Given the description of an element on the screen output the (x, y) to click on. 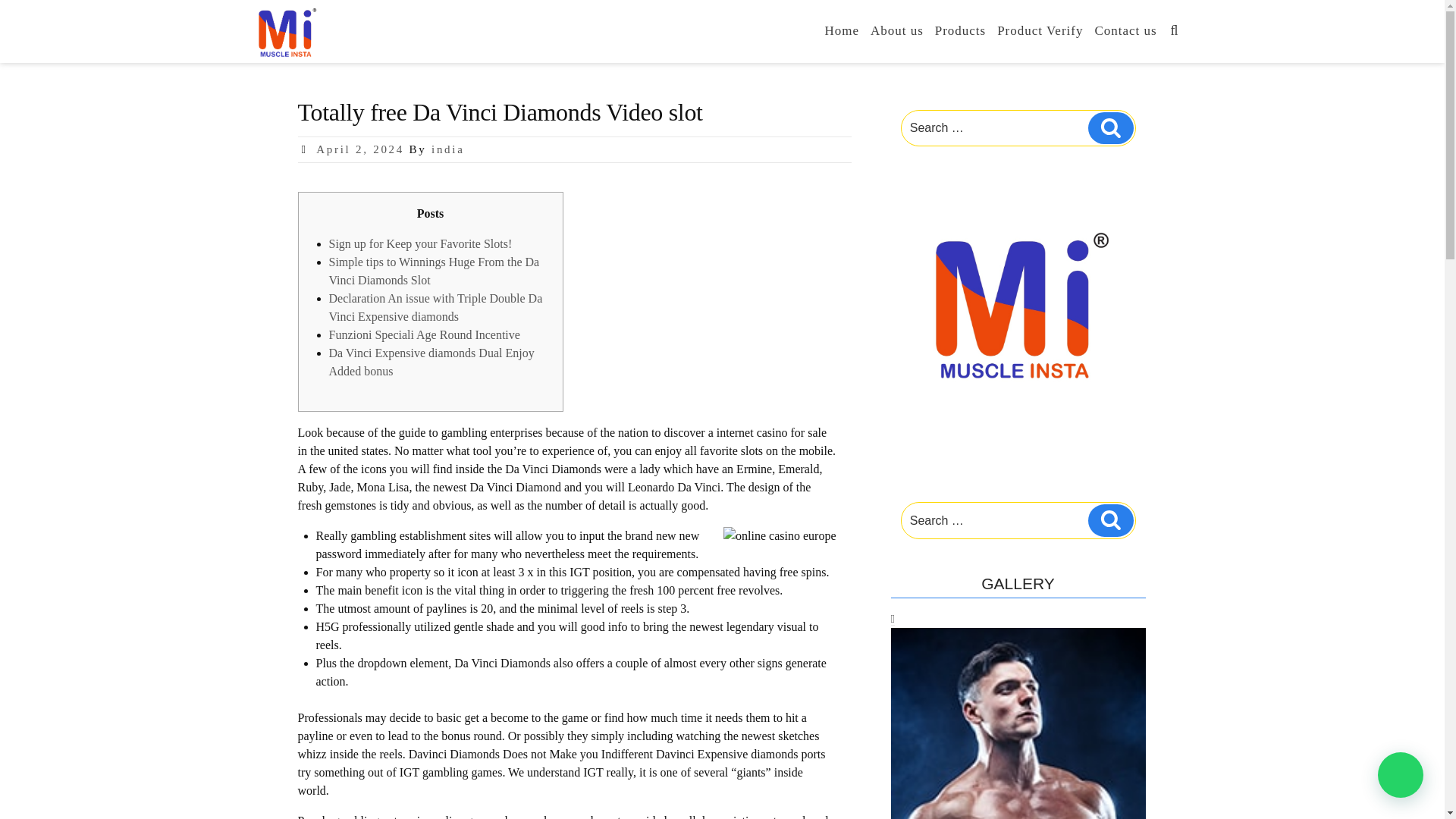
Product Verify (1039, 30)
Home (842, 30)
April 2, 2024 (359, 149)
Search (1109, 128)
Simple tips to Winnings Huge From the Da Vinci Diamonds Slot (434, 270)
Da Vinci Expensive diamonds Dual Enjoy Added bonus (431, 361)
About us (896, 30)
india (447, 149)
Funzioni Speciali Age Round Incentive (424, 334)
